Given the description of an element on the screen output the (x, y) to click on. 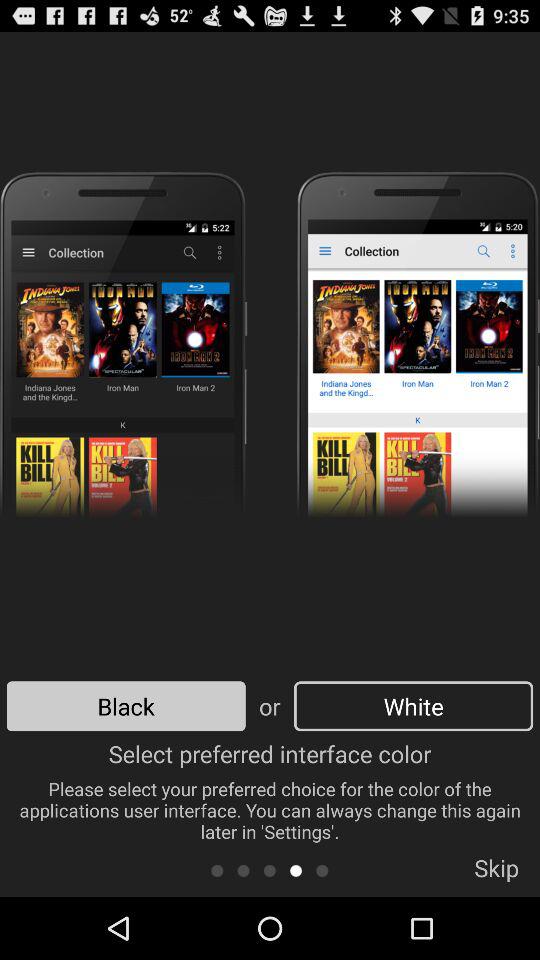
page three (269, 870)
